Given the description of an element on the screen output the (x, y) to click on. 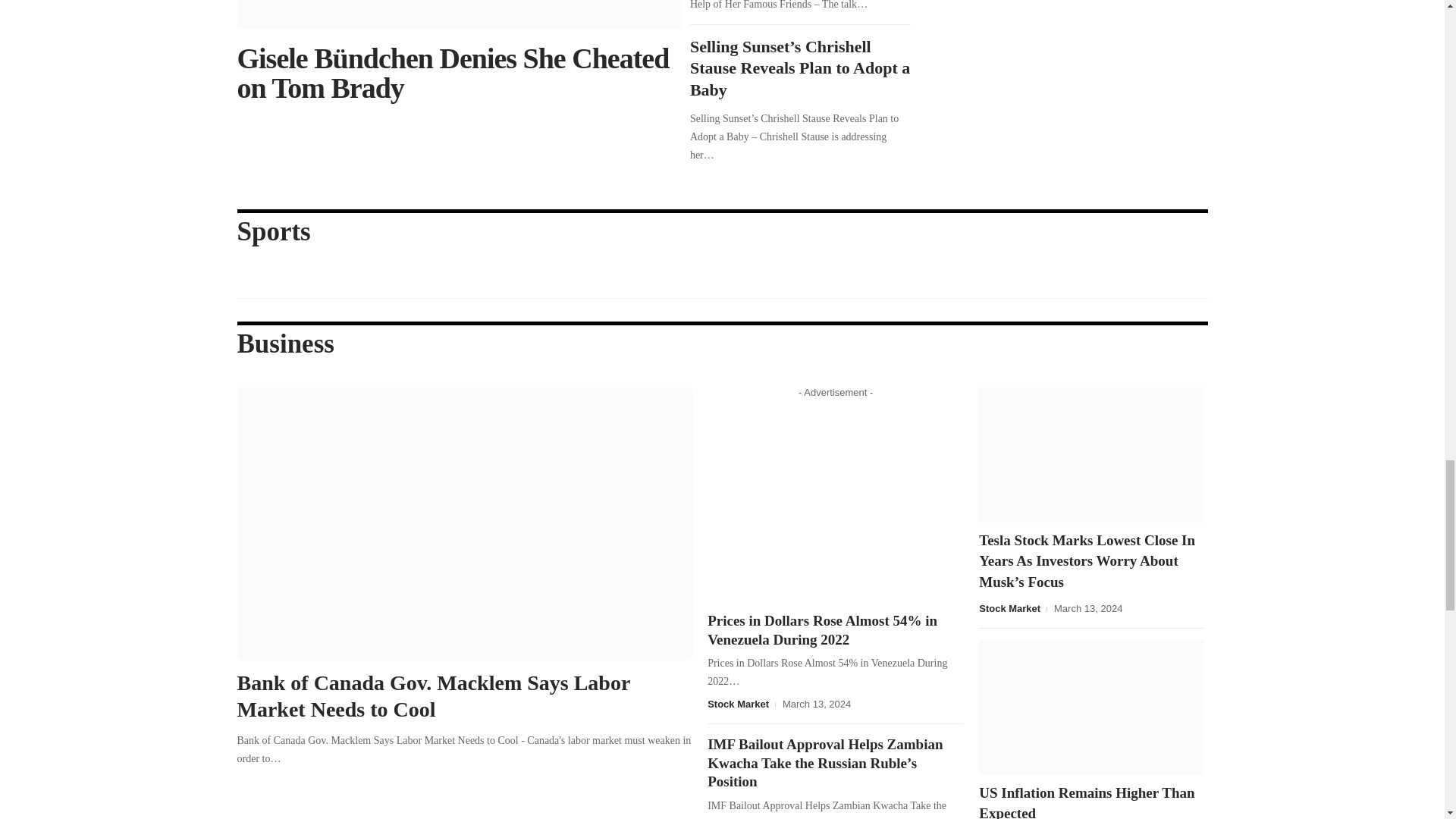
Bank of Canada Gov. Macklem Says Labor Market Needs to Cool (464, 523)
US Inflation Remains Higher Than Expected (1091, 706)
